Given the description of an element on the screen output the (x, y) to click on. 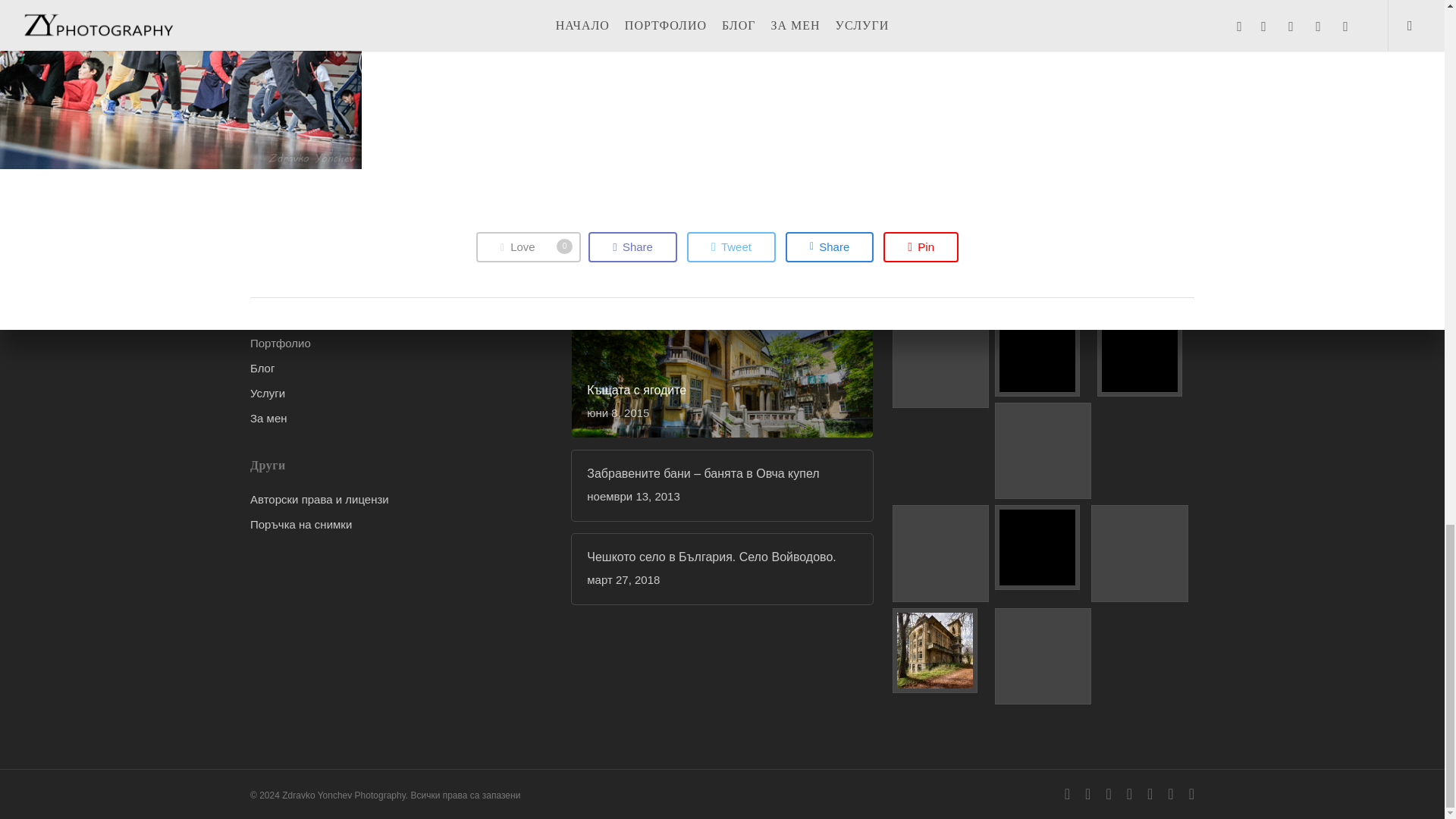
Share (528, 246)
Tweet this (829, 246)
Share (731, 246)
Pin (632, 246)
Share this (920, 246)
Pin this (632, 246)
Tweet (920, 246)
Love this (731, 246)
Share this (528, 246)
